Given the description of an element on the screen output the (x, y) to click on. 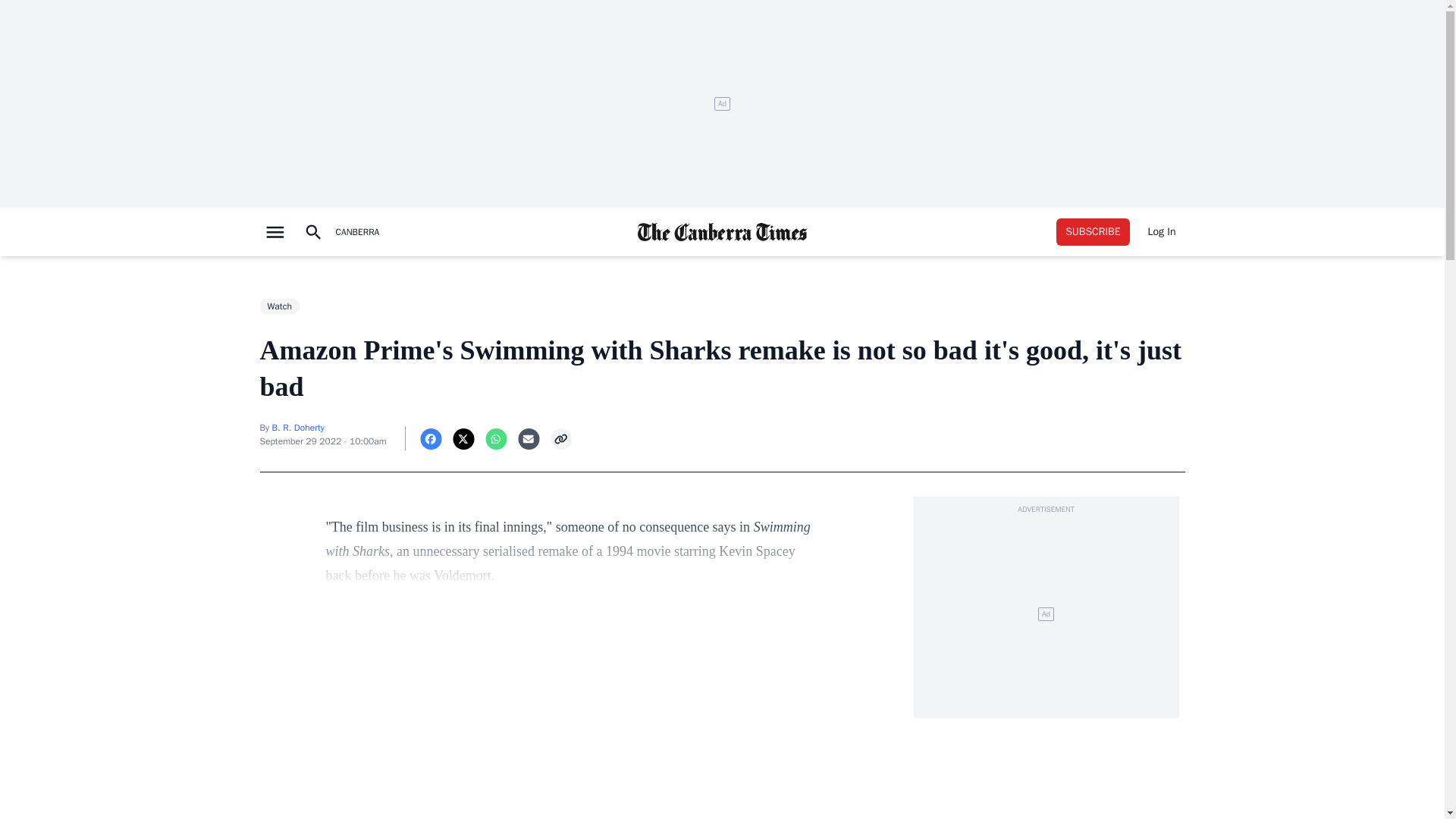
Log In (1161, 231)
SUBSCRIBE (1093, 231)
CANBERRA (357, 232)
